Given the description of an element on the screen output the (x, y) to click on. 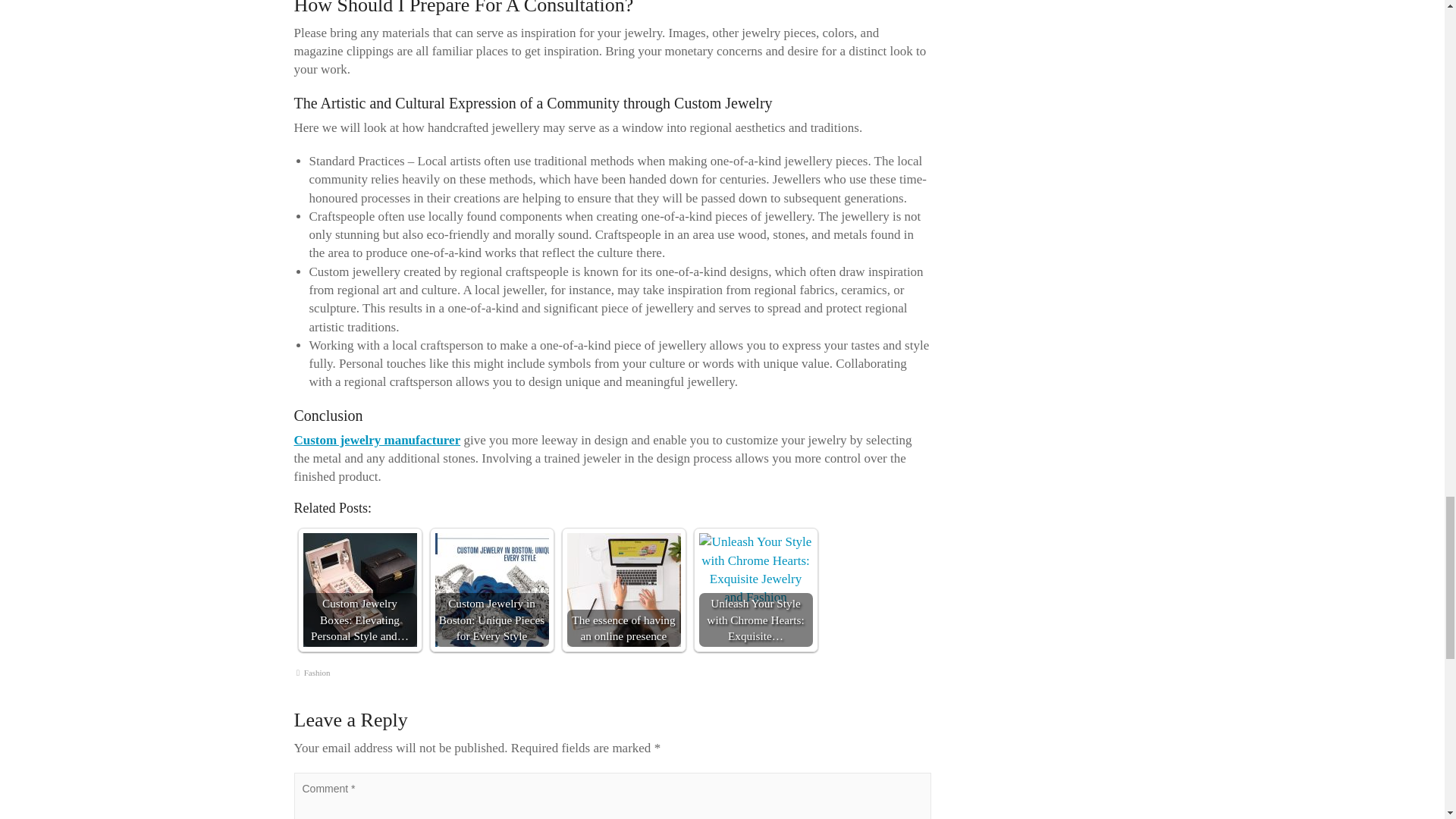
The essence of having an online presence (624, 590)
Custom jewelry manufacturer (377, 440)
Custom Jewelry in Boston: Unique Pieces for Every Style (491, 590)
The essence of having an online presence (624, 590)
Fashion (317, 672)
Custom Jewelry in Boston: Unique Pieces for Every Style (491, 590)
